Given the description of an element on the screen output the (x, y) to click on. 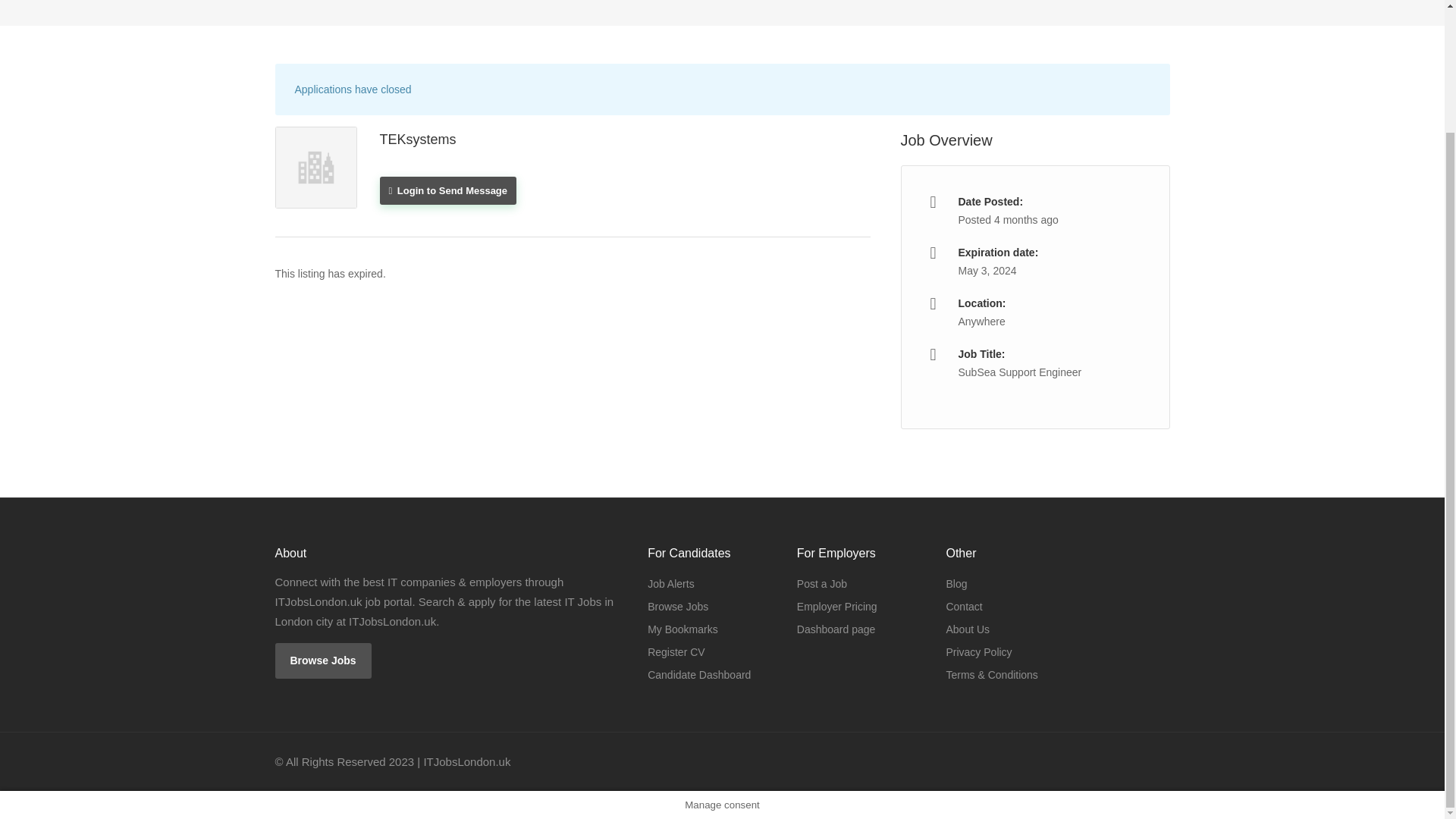
Employer Pricing (836, 606)
Blog (955, 583)
Candidate Dashboard (699, 674)
Register CV (675, 651)
My Bookmarks (682, 629)
Job Alerts (670, 583)
Privacy Policy (977, 651)
Contact (962, 606)
Browse Jobs (323, 660)
About Us (967, 629)
